Given the description of an element on the screen output the (x, y) to click on. 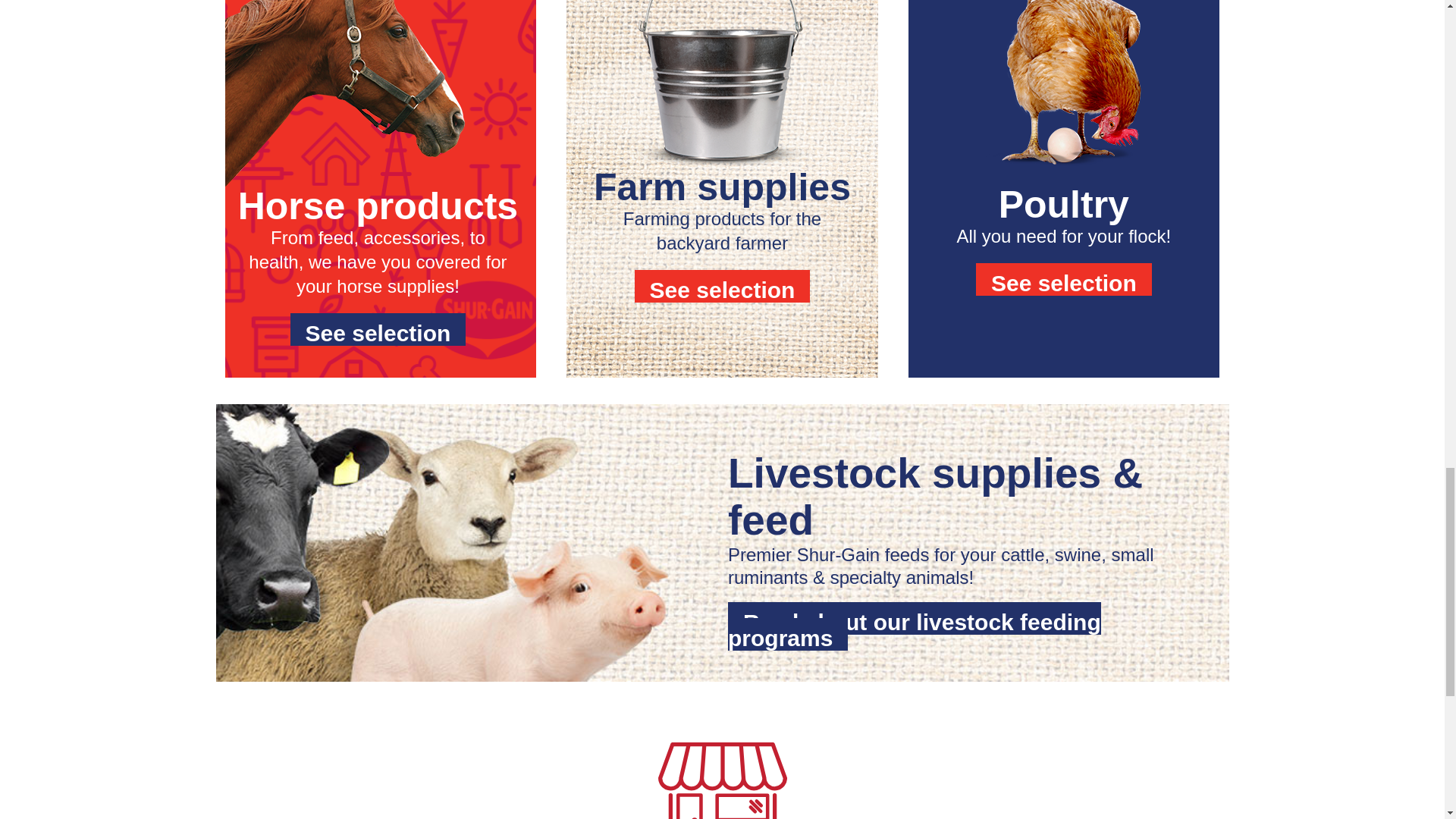
See selection (1063, 278)
See selection (377, 328)
Read about our livestock feeding programs (914, 625)
See selection (722, 286)
